Given the description of an element on the screen output the (x, y) to click on. 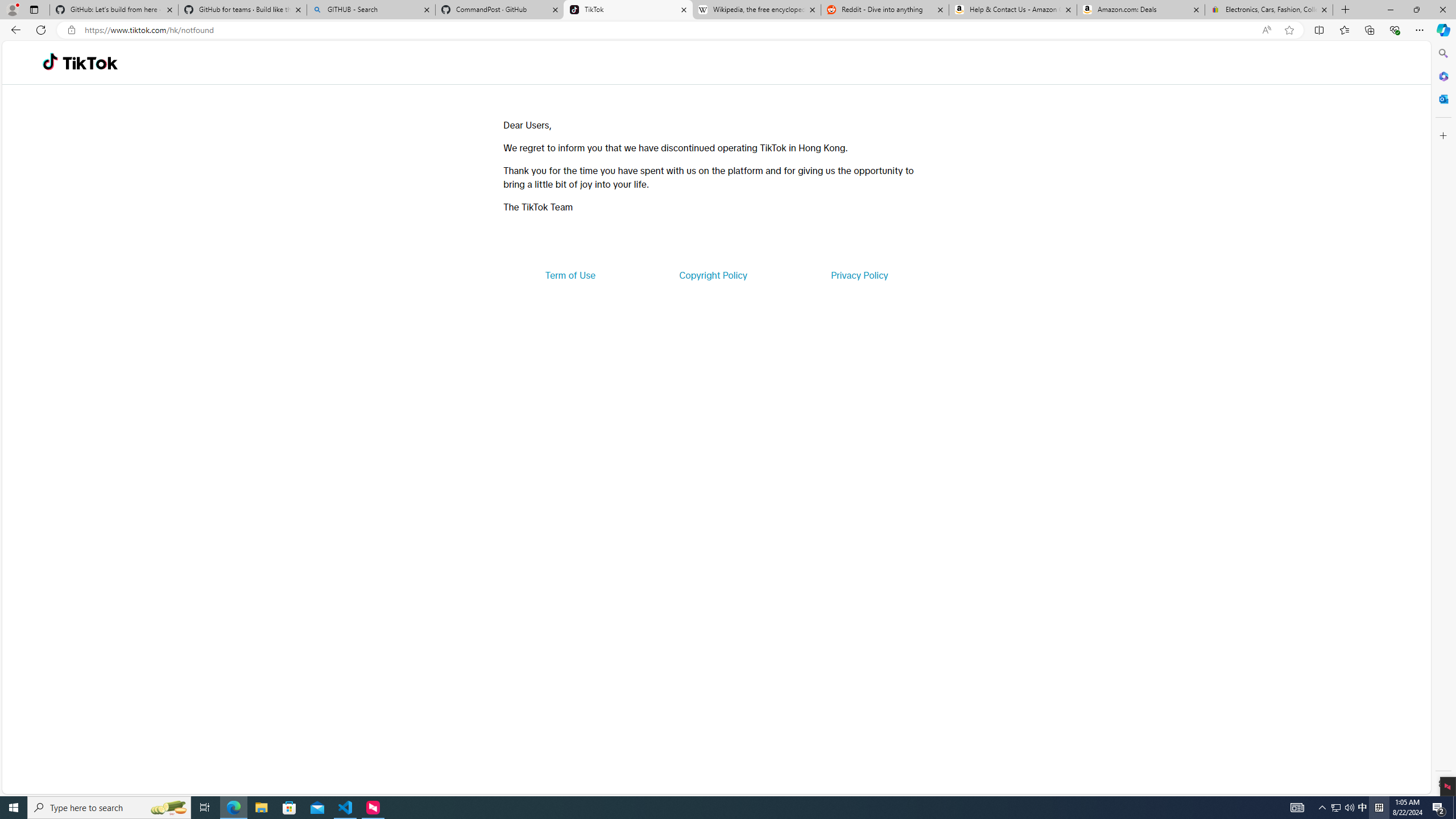
Term of Use (569, 274)
